Given the description of an element on the screen output the (x, y) to click on. 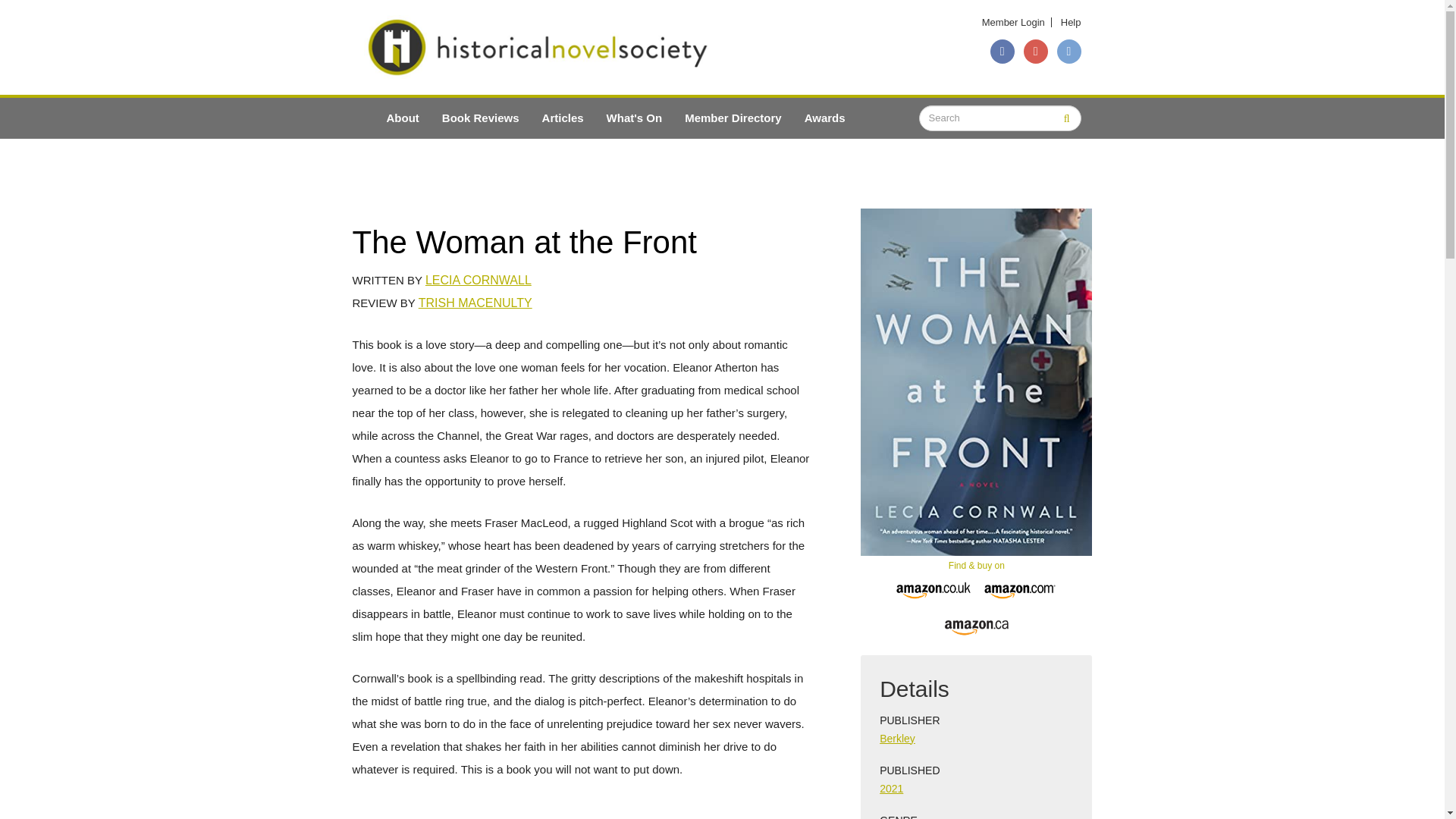
Articles (563, 117)
What's On (634, 117)
Member Login (1013, 22)
Articles (563, 117)
Member Directory (732, 117)
Help (1071, 22)
facebook (1002, 51)
Member Directory (732, 117)
LECIA CORNWALL (478, 279)
Help (1071, 22)
Reviews (480, 117)
Awards (825, 117)
About (401, 117)
twitter (1069, 51)
TRISH MACENULTY (475, 302)
